Given the description of an element on the screen output the (x, y) to click on. 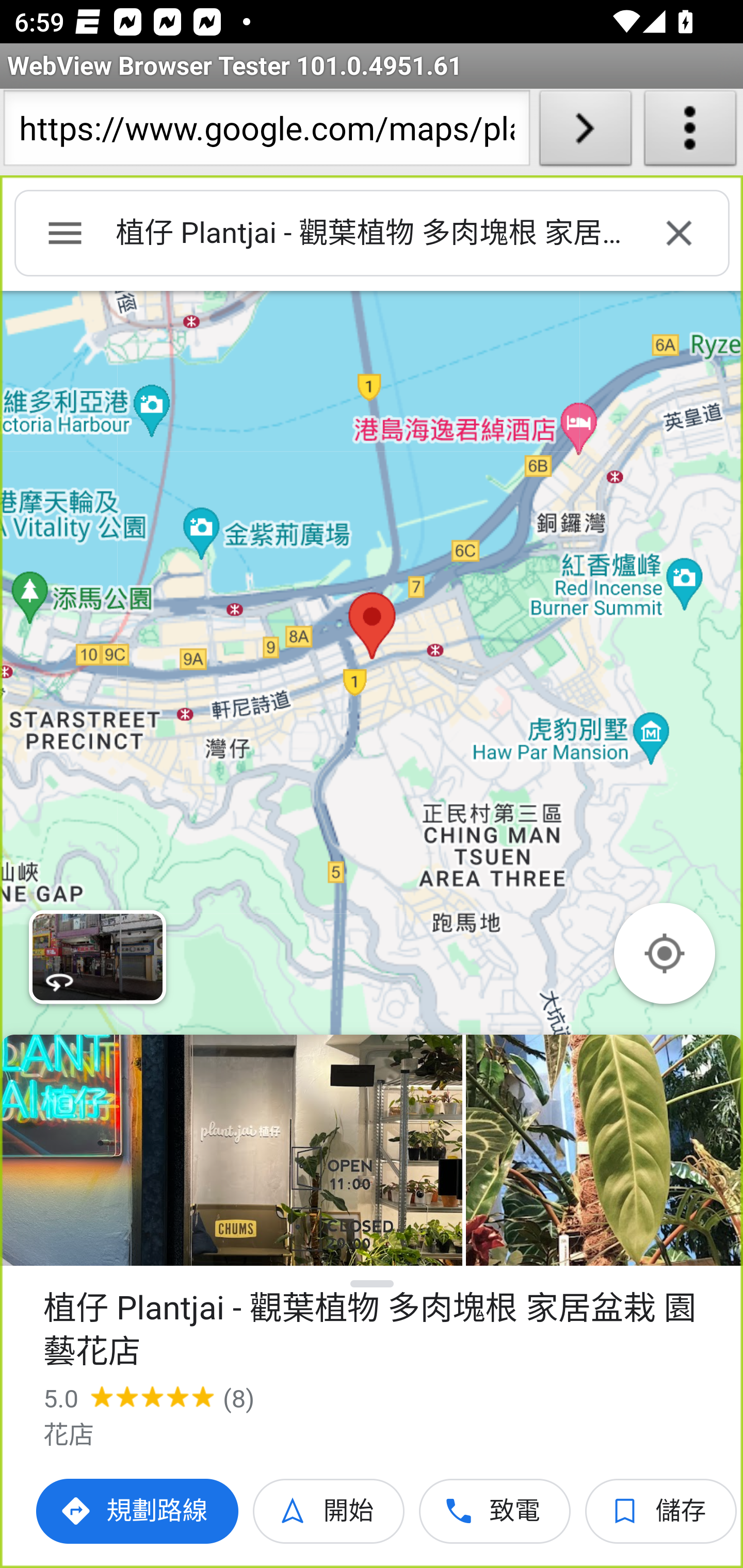
Load URL (585, 132)
About WebView (690, 132)
第 1 張相片 (共 9 張) (231, 1149)
第 2 張相片 (共 9 張) (604, 1149)
顯示詳細資料 (372, 1284)
前往植仔 Plantjai - 觀葉植物 多肉塊根 家居盆栽 園藝花店的路線 (137, 1511)
開始 (329, 1511)
致電「植仔 Plantjai - 觀葉植物 多肉塊根 家居盆栽 園藝花店」  致電 (495, 1511)
將「植仔 Plantjai - 觀葉植物 多肉塊根 家居盆栽 園藝花店」儲存至清單中 (661, 1511)
